Given the description of an element on the screen output the (x, y) to click on. 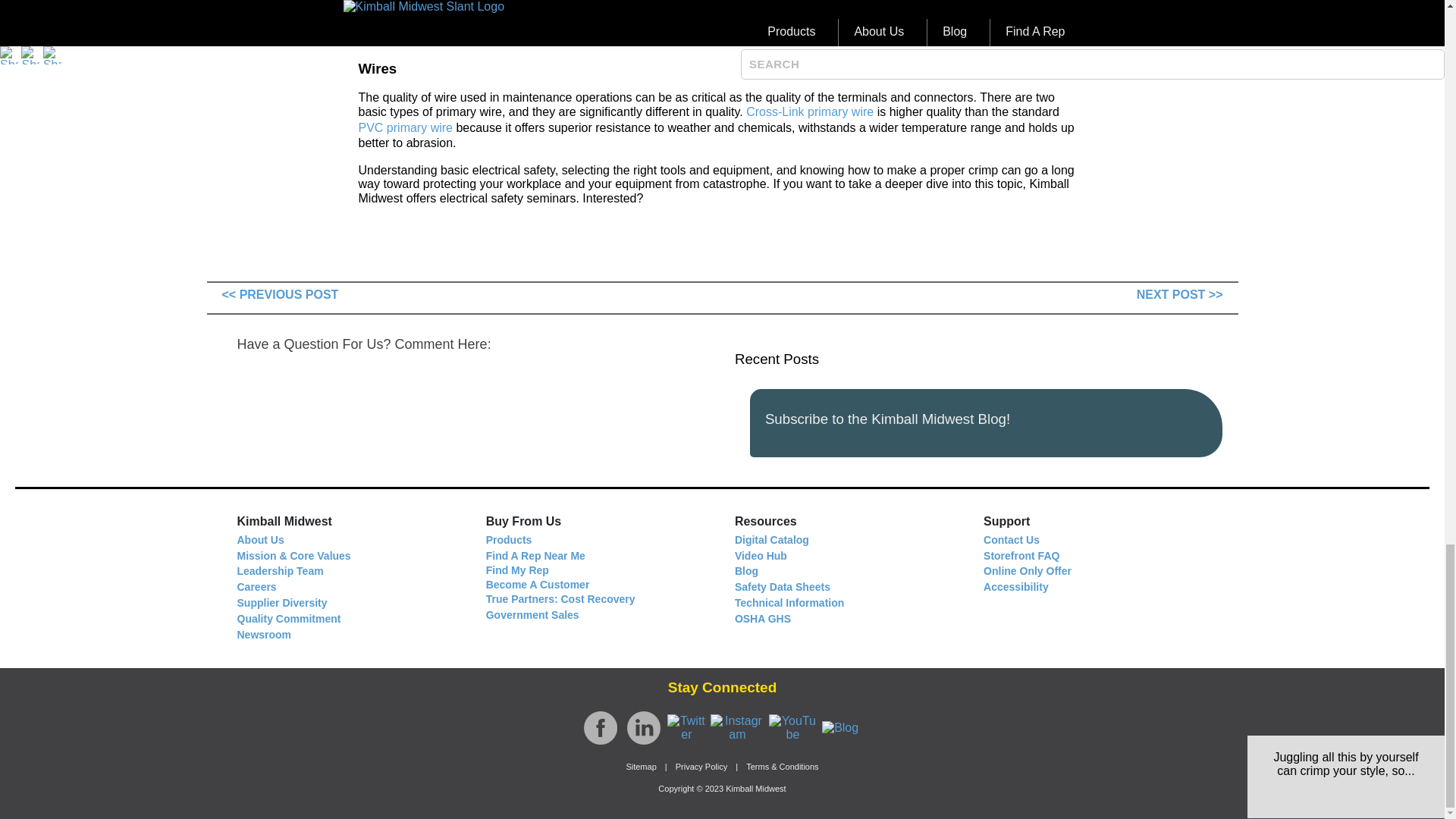
Find A Rep Near Me (535, 554)
Twitter (686, 728)
Supplier Diversity (280, 602)
YouTube (792, 728)
About Us (259, 539)
PVC primary wire (404, 127)
Facebook (600, 727)
Instagram (737, 728)
Quality Commitment (287, 617)
Find My Rep (517, 570)
True Partners: Cost Recovery (560, 598)
Blog (840, 727)
Leadership Team (279, 570)
Products (509, 539)
Careers (255, 585)
